Given the description of an element on the screen output the (x, y) to click on. 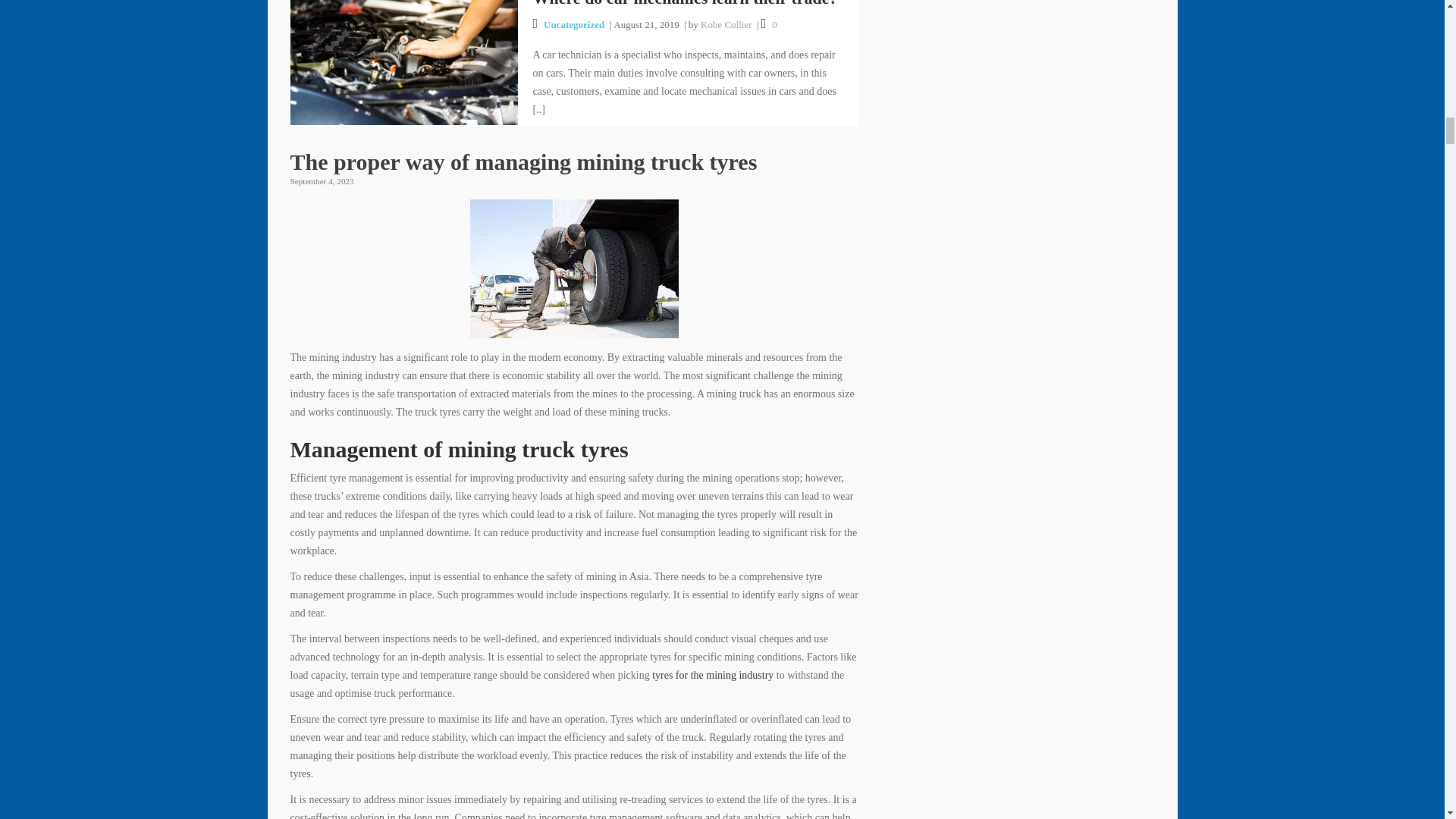
Where do car mechanics learn their trade? (402, 49)
